Given the description of an element on the screen output the (x, y) to click on. 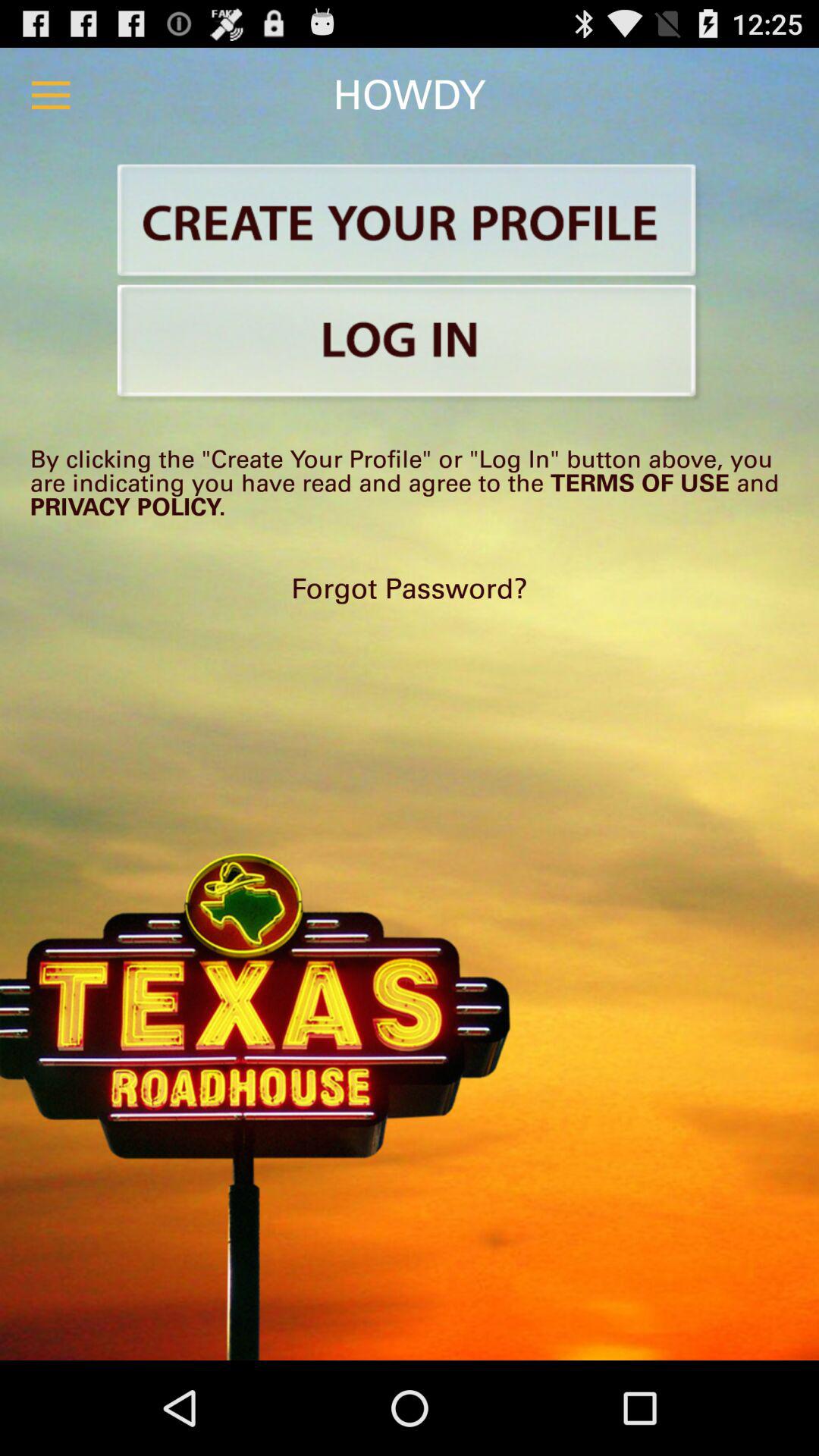
click to log in (409, 343)
